Given the description of an element on the screen output the (x, y) to click on. 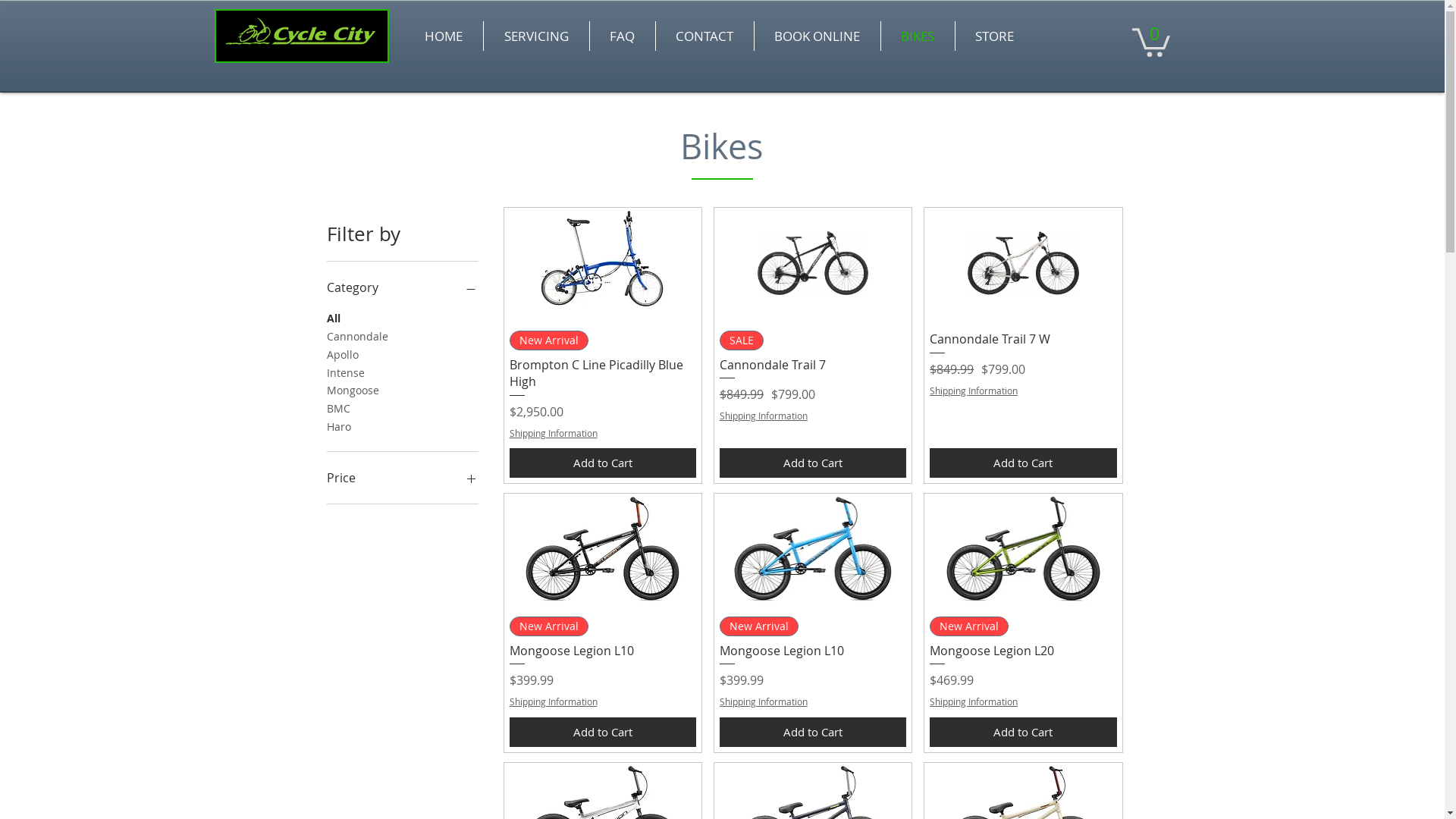
Add to Cart Element type: text (812, 462)
0 Element type: text (1150, 40)
BIKES Element type: text (917, 35)
STORE Element type: text (994, 35)
Add to Cart Element type: text (602, 731)
Add to Cart Element type: text (602, 462)
Add to Cart Element type: text (1022, 731)
Add to Cart Element type: text (1022, 462)
HOME Element type: text (442, 35)
Category Element type: text (401, 287)
BOOK ONLINE Element type: text (816, 35)
Add to Cart Element type: text (812, 731)
Shipping Information Element type: text (553, 432)
SERVICING Element type: text (536, 35)
Shipping Information Element type: text (553, 701)
Shipping Information Element type: text (973, 390)
CONTACT Element type: text (704, 35)
Shipping Information Element type: text (763, 415)
Shipping Information Element type: text (763, 701)
Price Element type: text (401, 477)
FAQ Element type: text (622, 35)
Shipping Information Element type: text (973, 701)
